Given the description of an element on the screen output the (x, y) to click on. 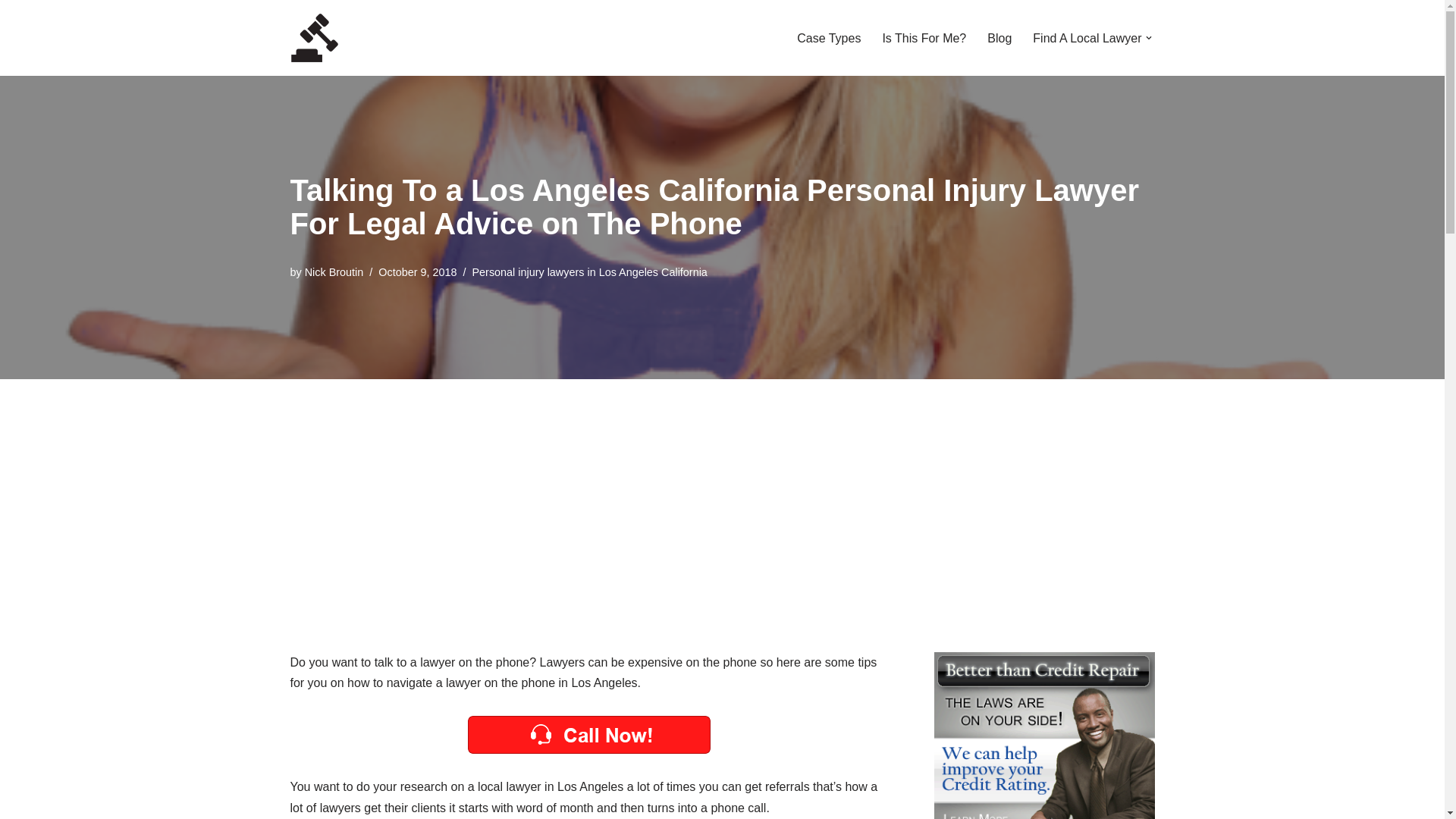
Personal injury lawyers in Los Angeles California (588, 272)
Find A Local Lawyer (1086, 37)
Blog (999, 37)
Posts by Nick Broutin (334, 272)
Skip to content (11, 31)
Nick Broutin (334, 272)
Is This For Me? (924, 37)
Case Types (828, 37)
